Given the description of an element on the screen output the (x, y) to click on. 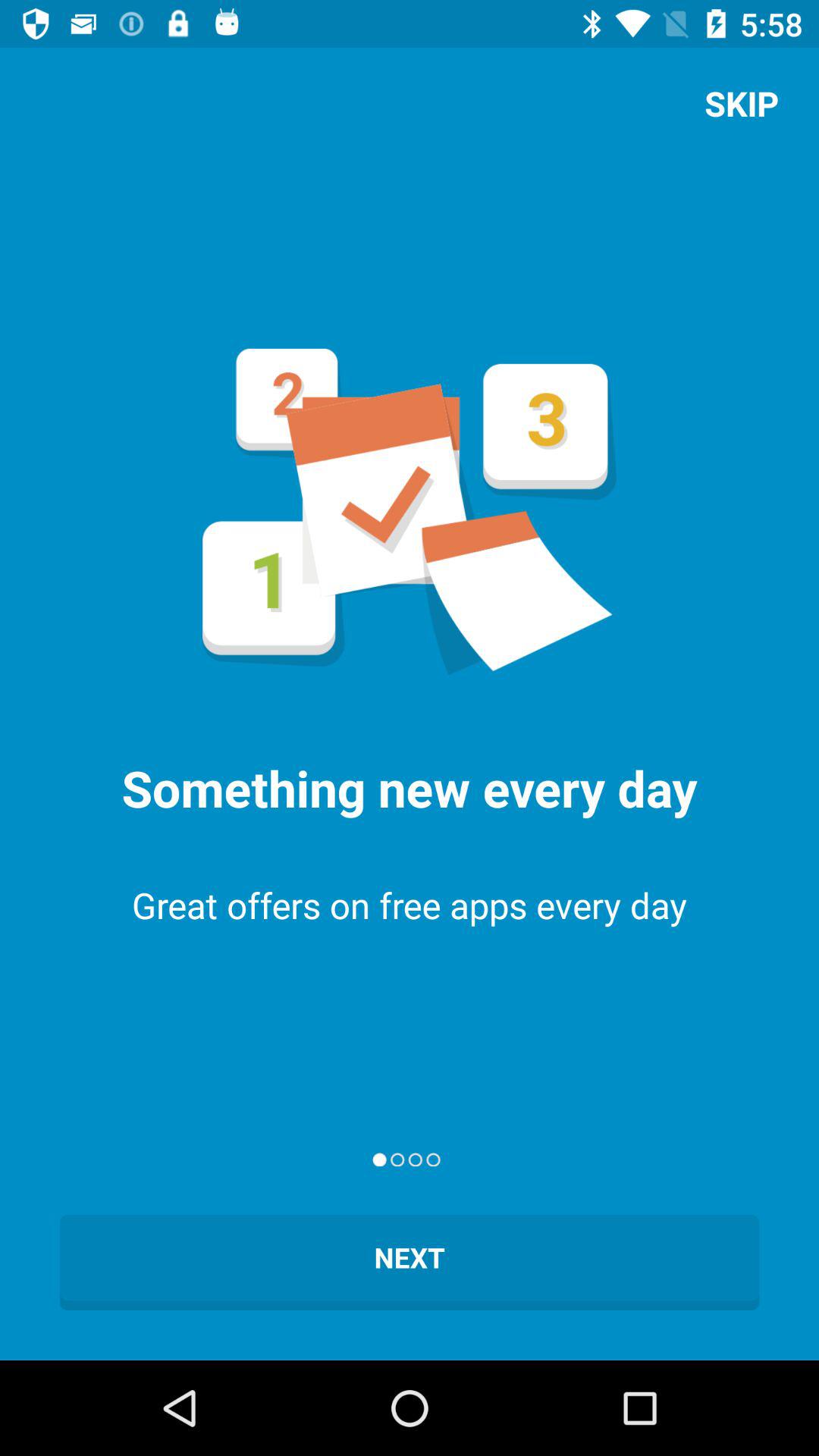
flip until the skip (741, 103)
